Given the description of an element on the screen output the (x, y) to click on. 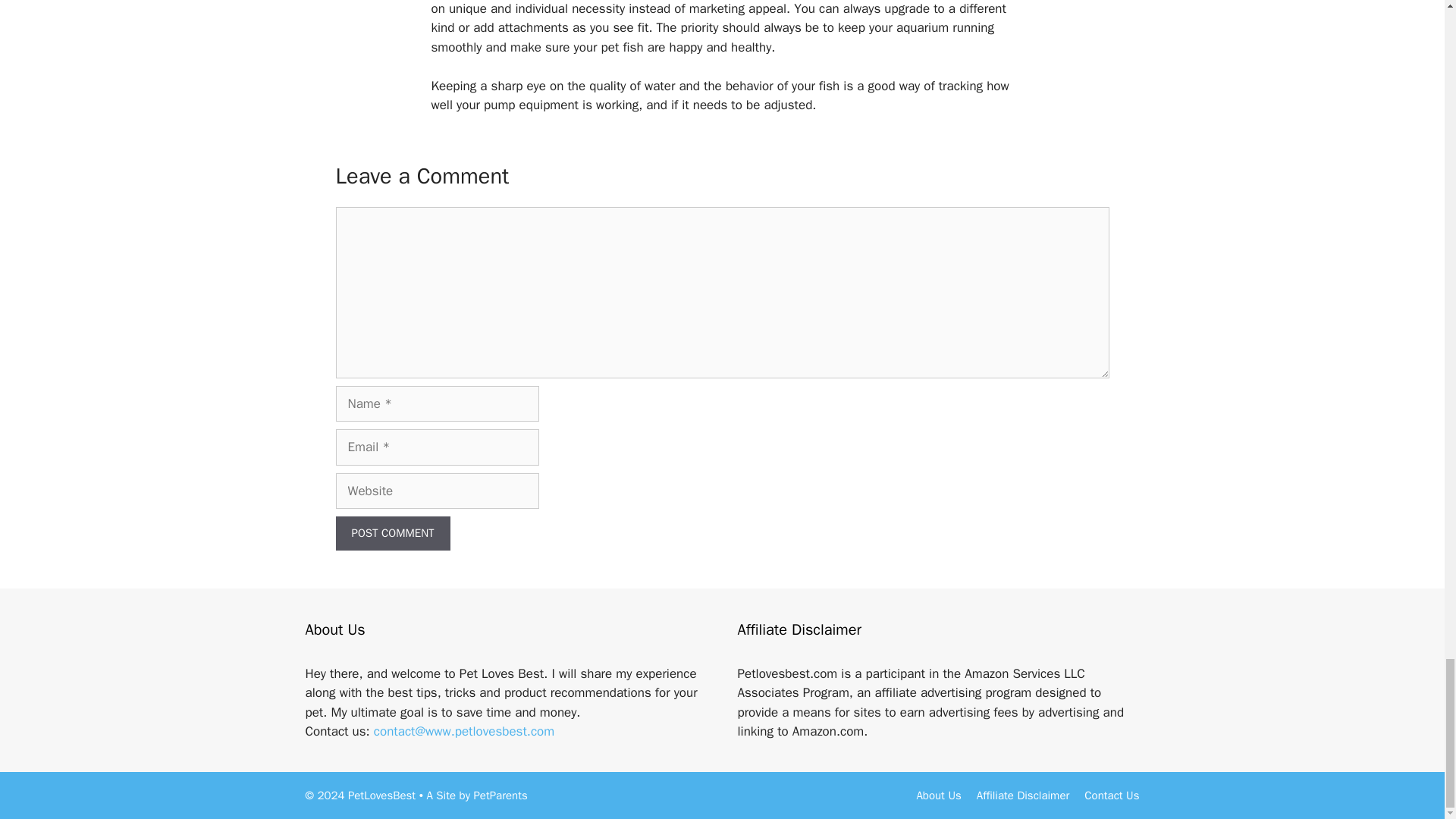
About Us (937, 795)
PetLovesBest (380, 795)
Affiliate Disclaimer (1023, 795)
Post Comment (391, 533)
Post Comment (391, 533)
Contact Us (1111, 795)
